Given the description of an element on the screen output the (x, y) to click on. 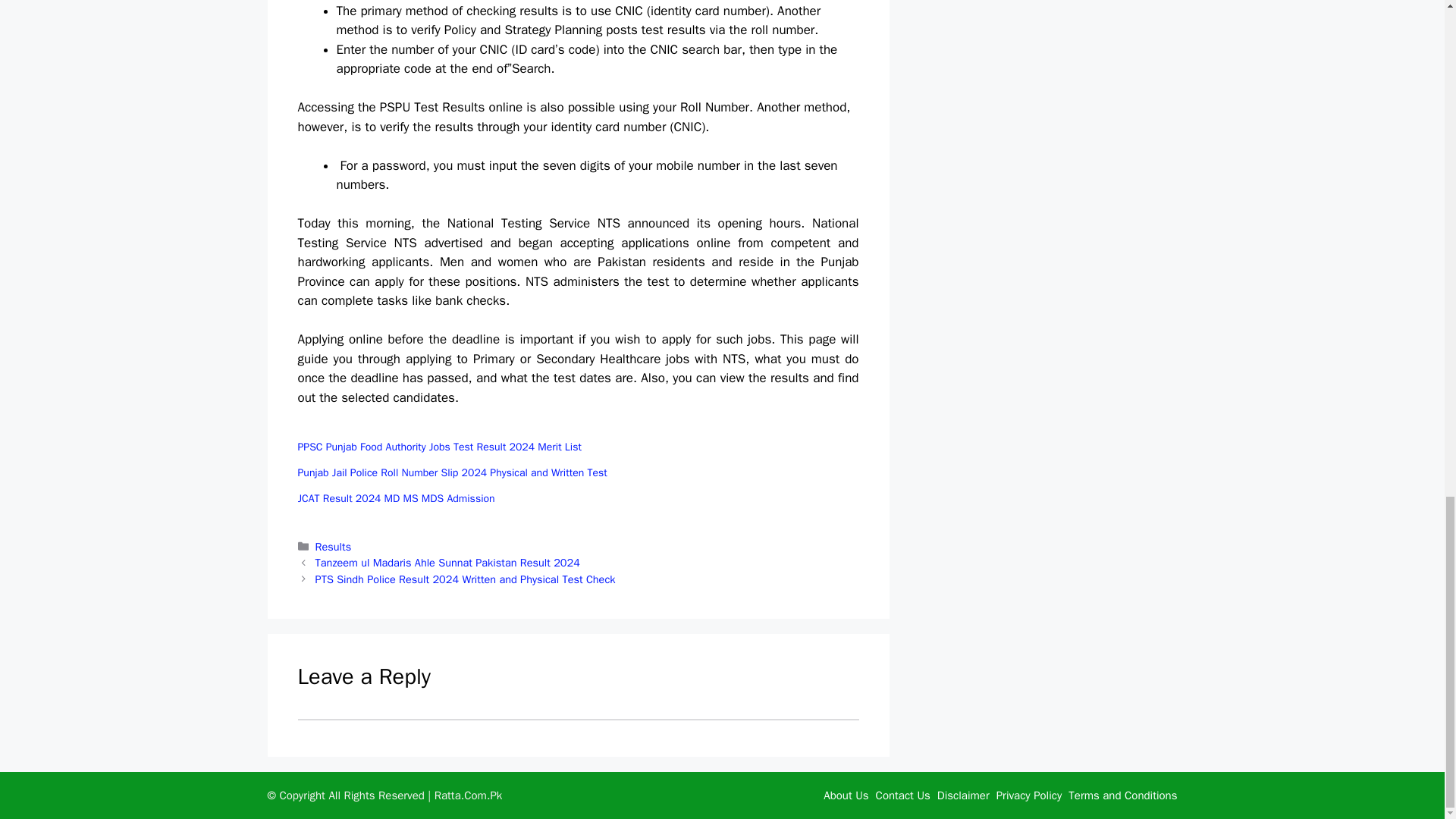
Tanzeem ul Madaris Ahle Sunnat Pakistan Result 2024 (447, 562)
PPSC Punjab Food Authority Jobs Test Result 2024 Merit List (438, 446)
Disclaimer (963, 795)
JCAT Result 2024 MD MS MDS Admission (396, 498)
Privacy Policy (1028, 795)
Terms and Conditions (1122, 795)
JCAT Result 2024 MD MS MDS Admission (396, 498)
Results (333, 546)
Contact Us (903, 795)
PPSC Punjab Food Authority Jobs Test Result 2024 Merit List (438, 446)
About Us (845, 795)
PTS Sindh Police Result 2024 Written and Physical Test Check (465, 579)
